Given the description of an element on the screen output the (x, y) to click on. 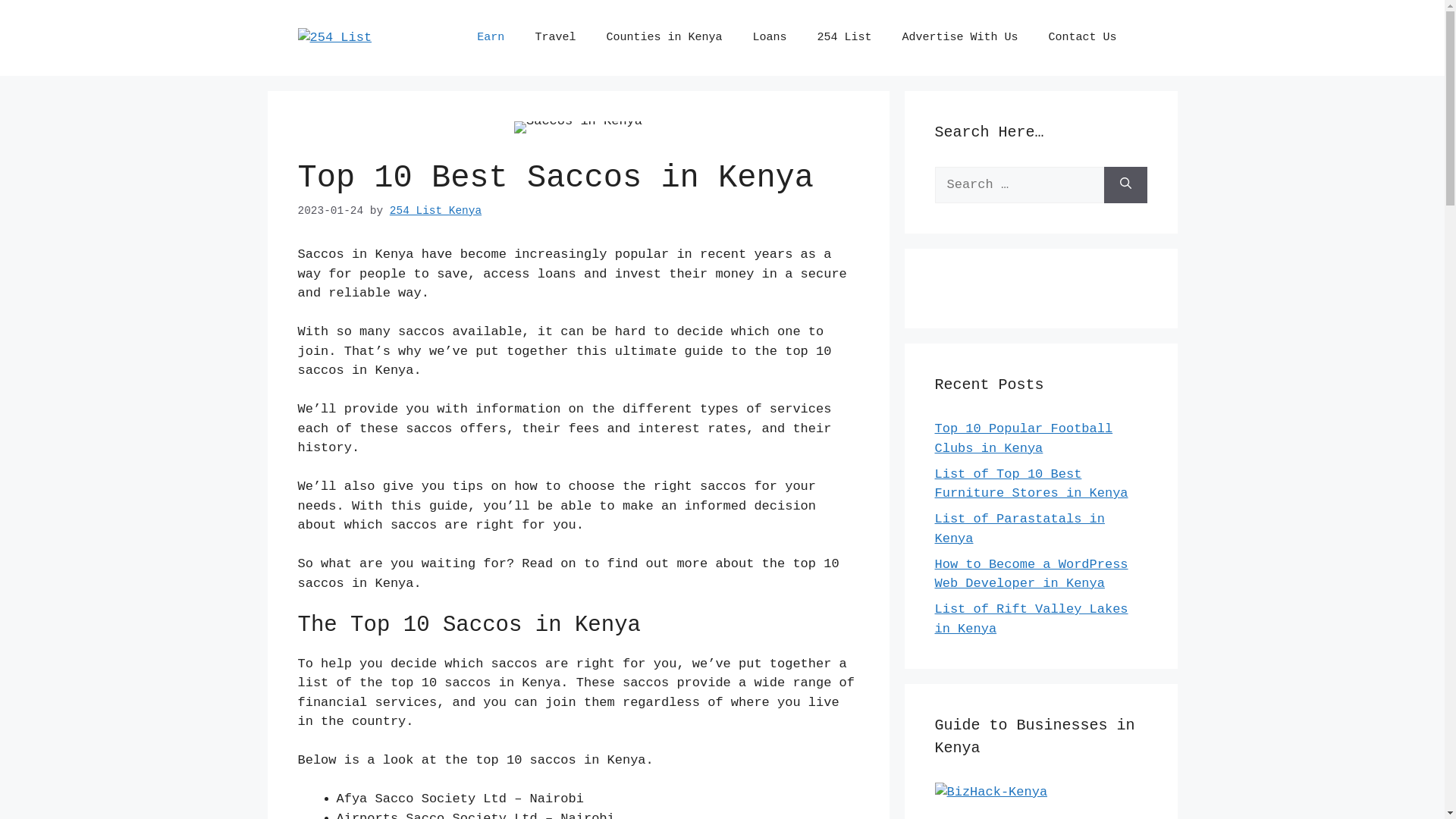
Contact Us Element type: text (1081, 37)
Search for: Element type: hover (1018, 184)
254 List Kenya Element type: text (435, 210)
List of Rift Valley Lakes in Kenya Element type: text (1030, 619)
Travel Element type: text (554, 37)
How to Become a WordPress Web Developer in Kenya Element type: text (1030, 573)
Counties in Kenya Element type: text (663, 37)
254 List Element type: text (843, 37)
Advertise With Us Element type: text (959, 37)
Loans Element type: text (769, 37)
Earn Element type: text (490, 37)
List of Parastatals in Kenya Element type: text (1019, 528)
List of Top 10 Best Furniture Stores in Kenya Element type: text (1030, 484)
Top 10 Popular Football Clubs in Kenya Element type: text (1023, 438)
